Given the description of an element on the screen output the (x, y) to click on. 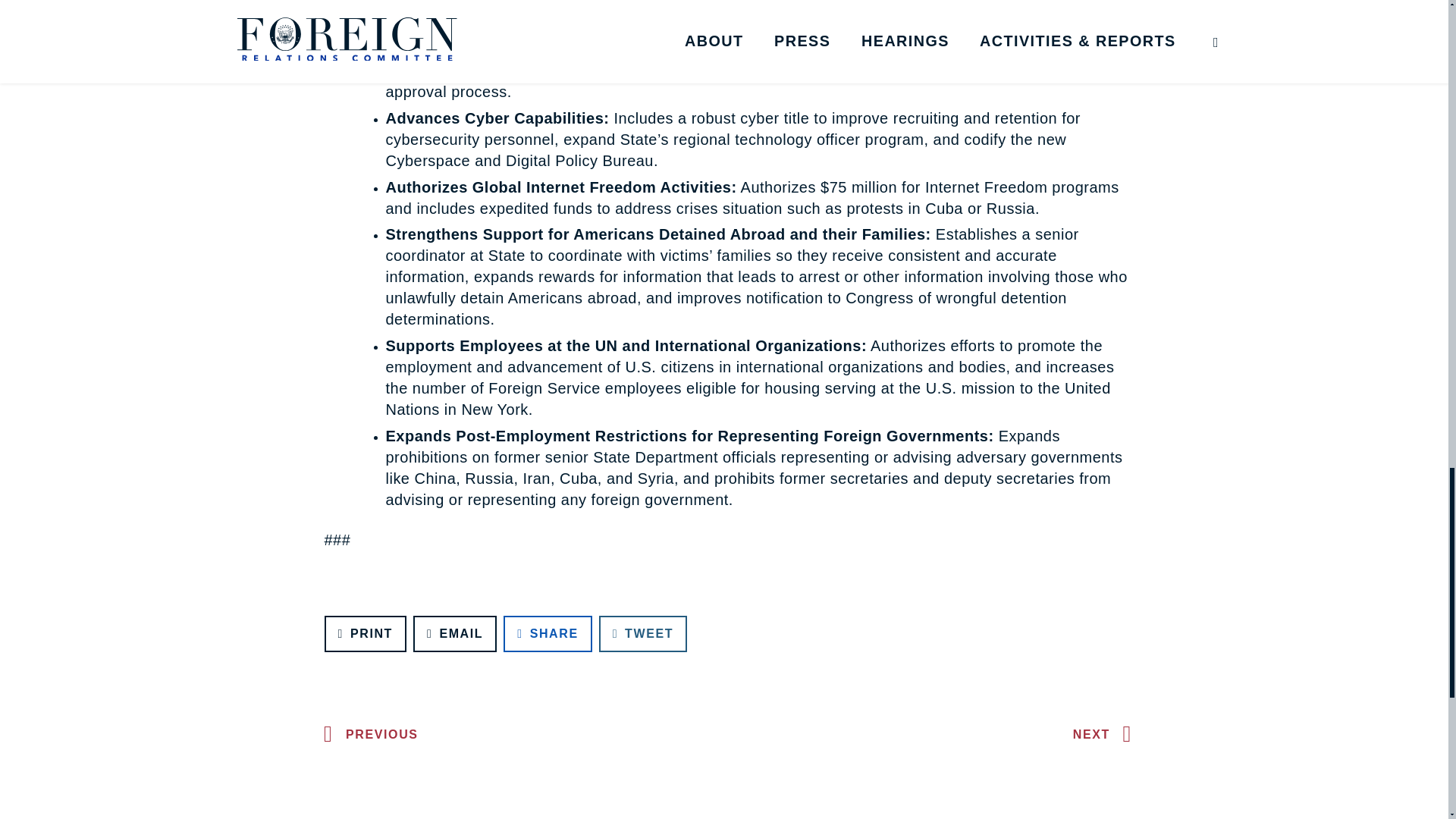
PRINT (365, 633)
PREVIOUS (367, 734)
SHARE (547, 633)
EMAIL (454, 633)
TWEET (642, 633)
NEXT (1105, 734)
